Given the description of an element on the screen output the (x, y) to click on. 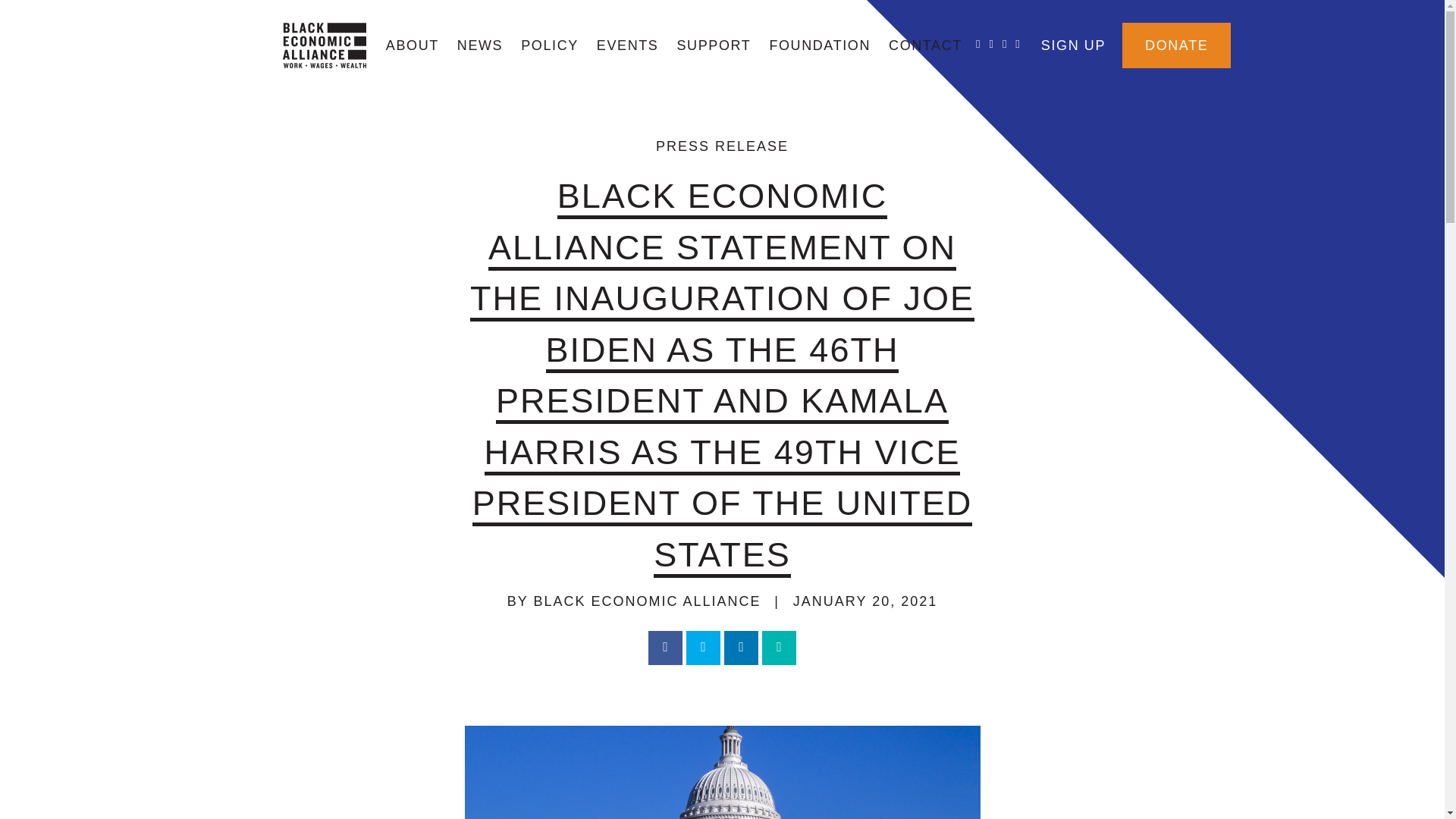
NEWS (480, 45)
DONATE (1176, 44)
FOUNDATION (819, 45)
Black Economic Alliance (323, 44)
CONTACT (925, 45)
SIGN UP (1073, 45)
POLICY (550, 45)
EVENTS (628, 45)
SUPPORT (713, 45)
ABOUT (412, 45)
